Given the description of an element on the screen output the (x, y) to click on. 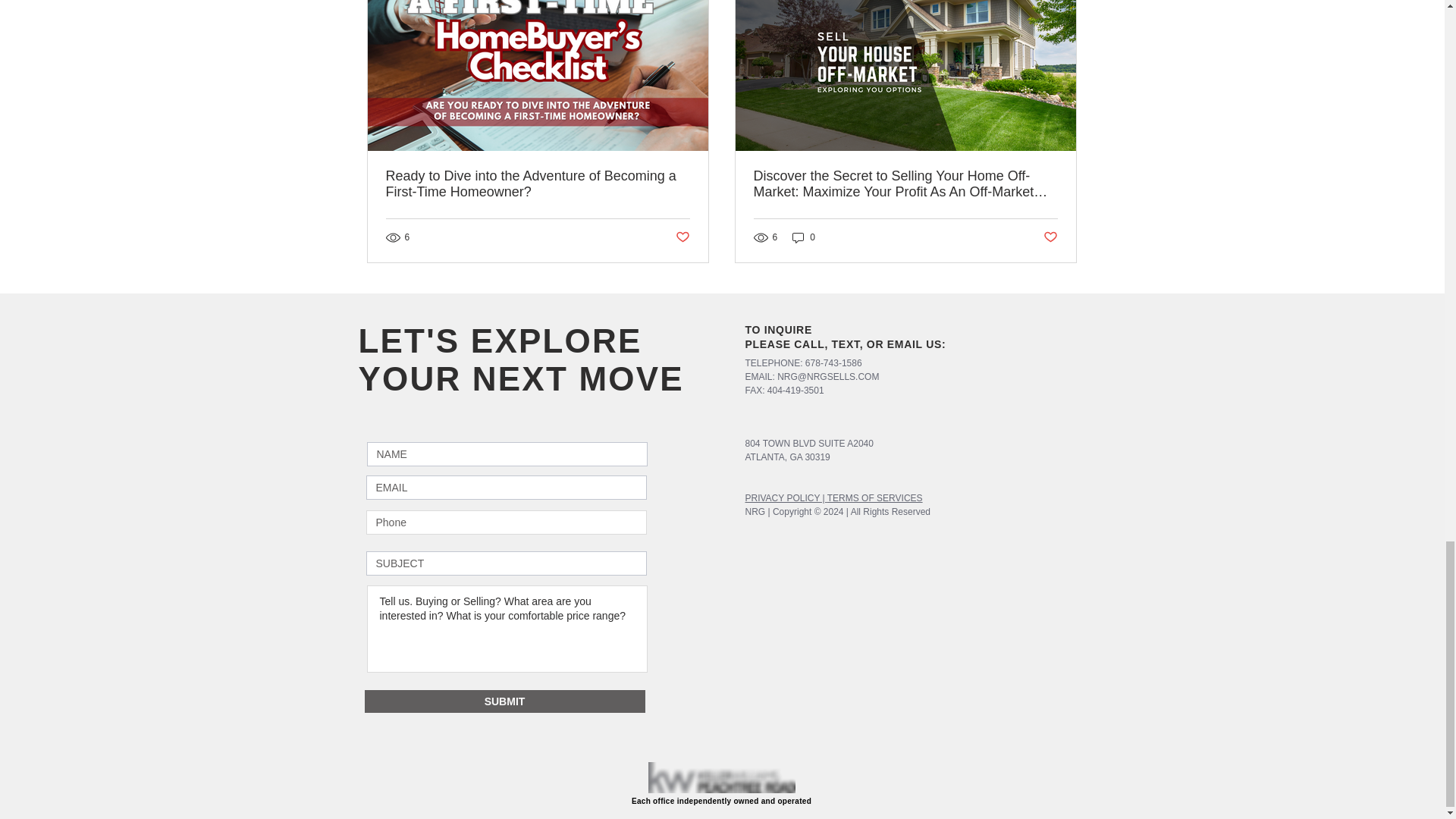
Post not marked as liked (681, 237)
Post not marked as liked (1050, 237)
0 (803, 237)
